Given the description of an element on the screen output the (x, y) to click on. 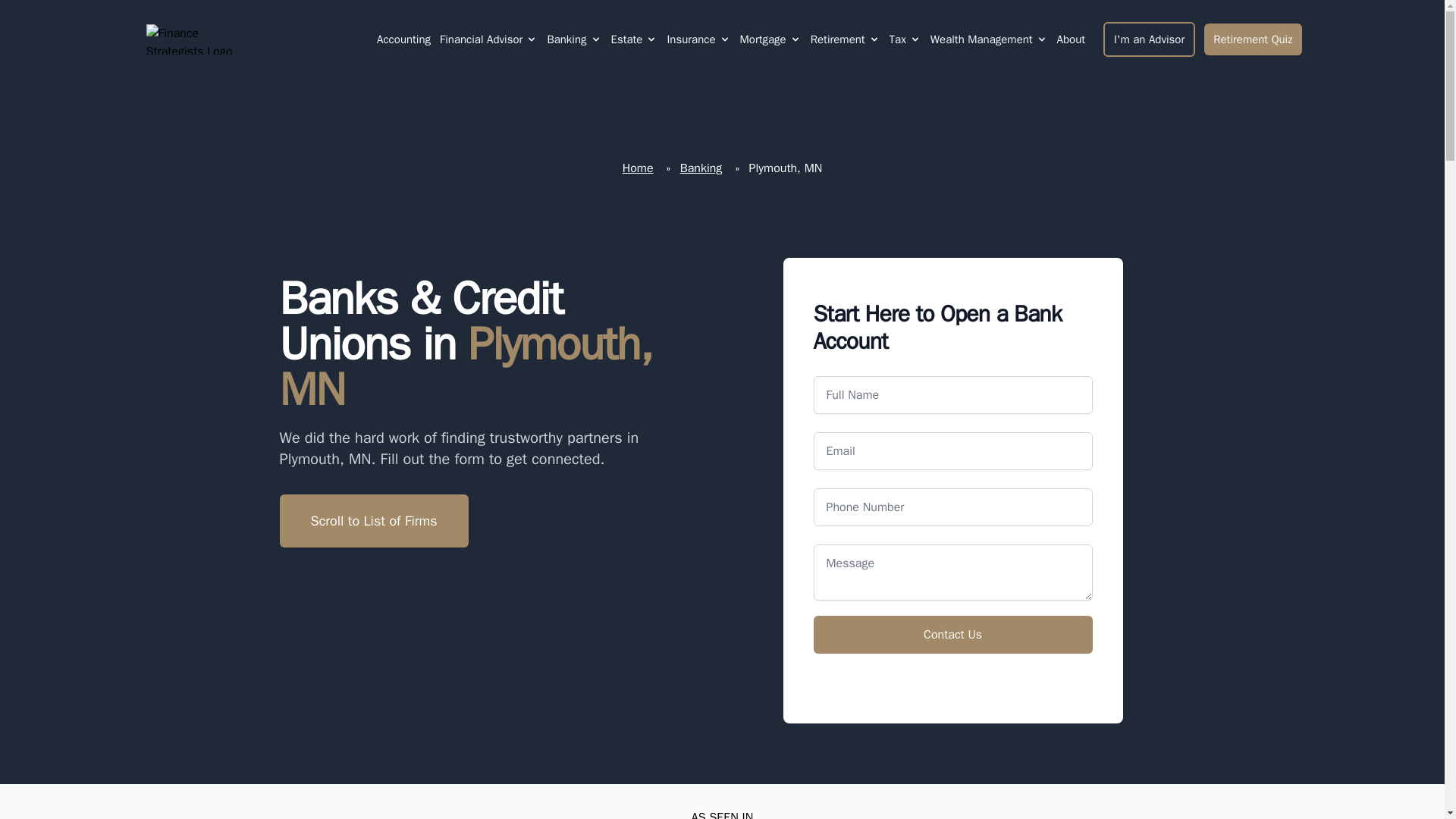
Finance Strategists (199, 39)
Banking (566, 39)
Accounting (403, 39)
Banking (573, 39)
Financial Advisor (488, 39)
Financial Advisor (480, 39)
Accounting (403, 39)
